Given the description of an element on the screen output the (x, y) to click on. 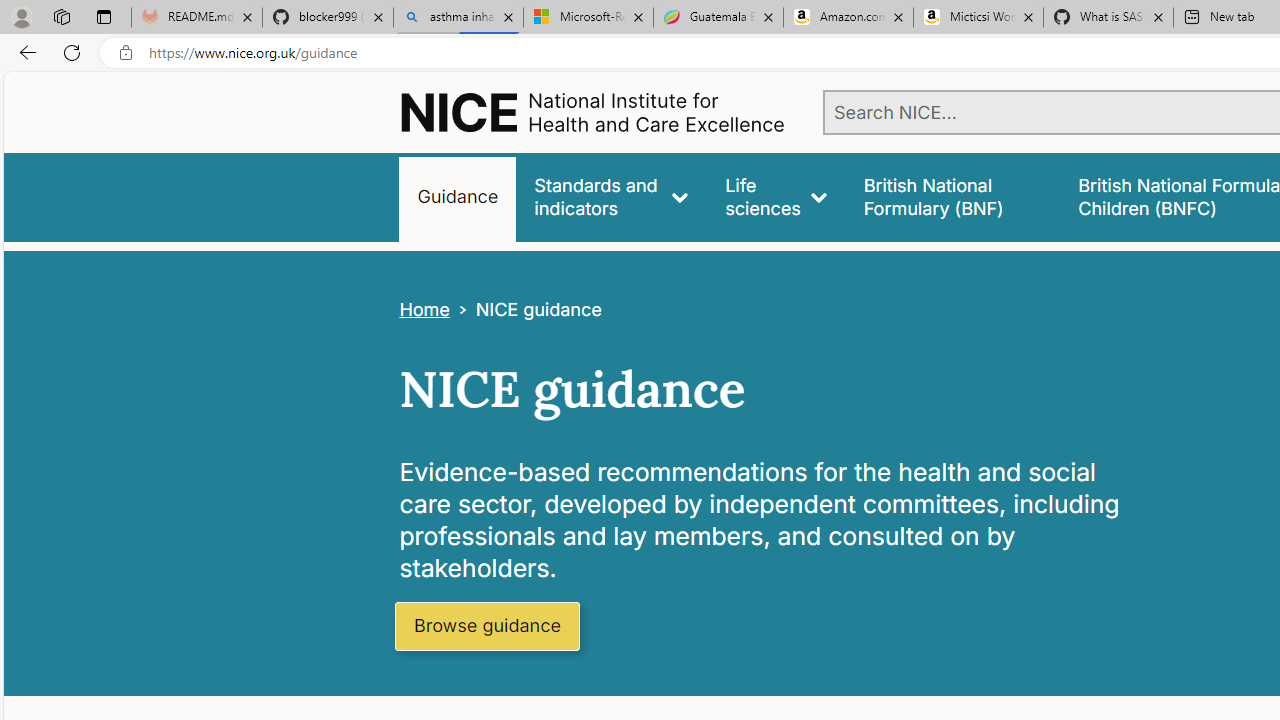
Home (424, 309)
Life sciences (776, 196)
Personal Profile (21, 16)
Refresh (72, 52)
Close tab (1158, 16)
View site information (125, 53)
Back (24, 52)
Tab actions menu (104, 16)
asthma inhaler - Search (458, 17)
Microsoft-Report a Concern to Bing (587, 17)
false (952, 196)
